Given the description of an element on the screen output the (x, y) to click on. 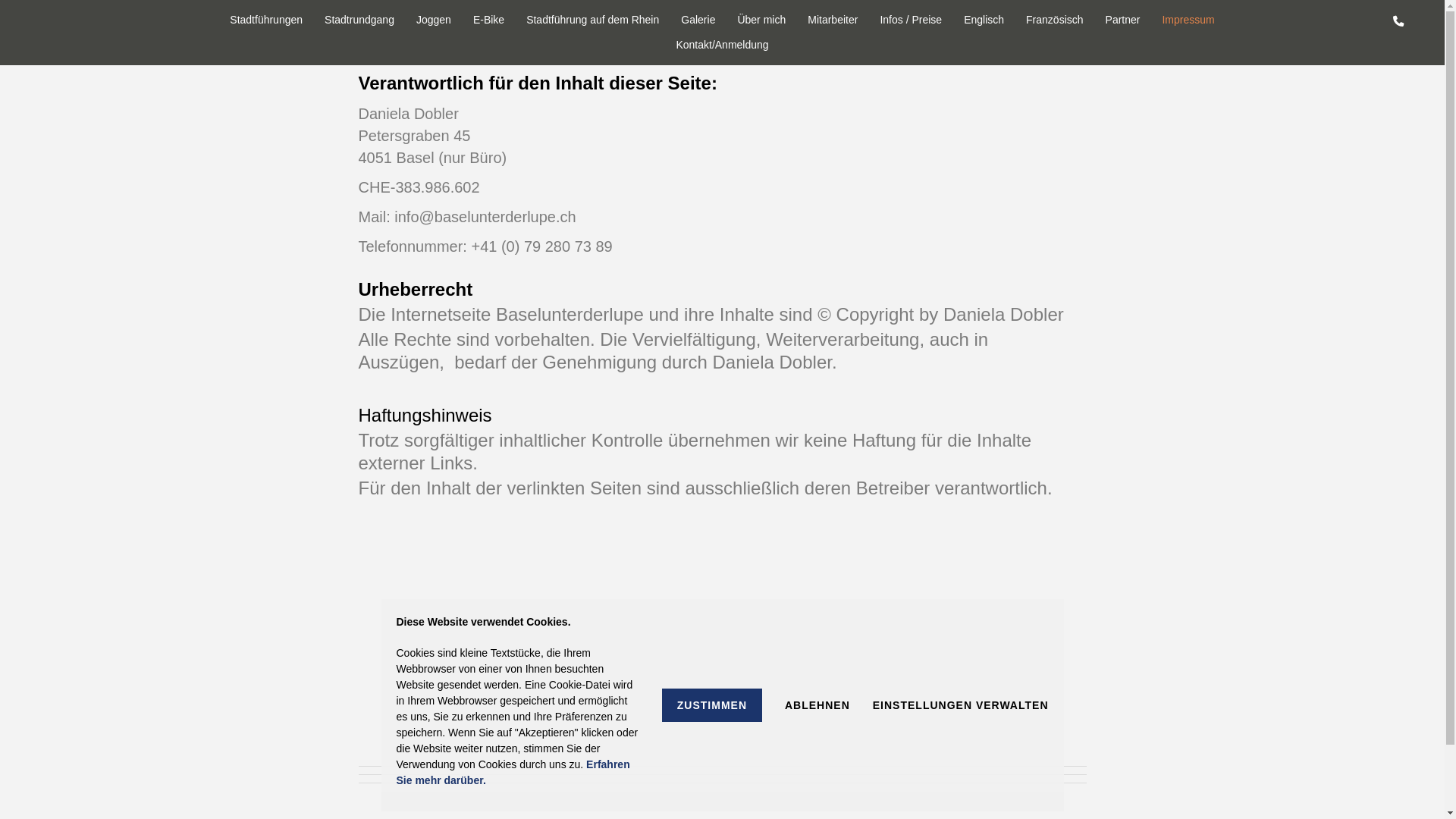
EINSTELLUNGEN VERWALTEN Element type: text (960, 704)
Englisch Element type: text (983, 19)
ABLEHNEN Element type: text (817, 704)
Impressum Element type: text (1187, 19)
Infos / Preise Element type: text (910, 19)
E-Bike Element type: text (488, 19)
Mitarbeiter Element type: text (832, 19)
Partner Element type: text (1122, 19)
ZUSTIMMEN Element type: text (712, 704)
Kontakt/Anmeldung Element type: text (721, 44)
Joggen Element type: text (433, 19)
Galerie Element type: text (697, 19)
Stadtrundgang Element type: text (359, 19)
